Given the description of an element on the screen output the (x, y) to click on. 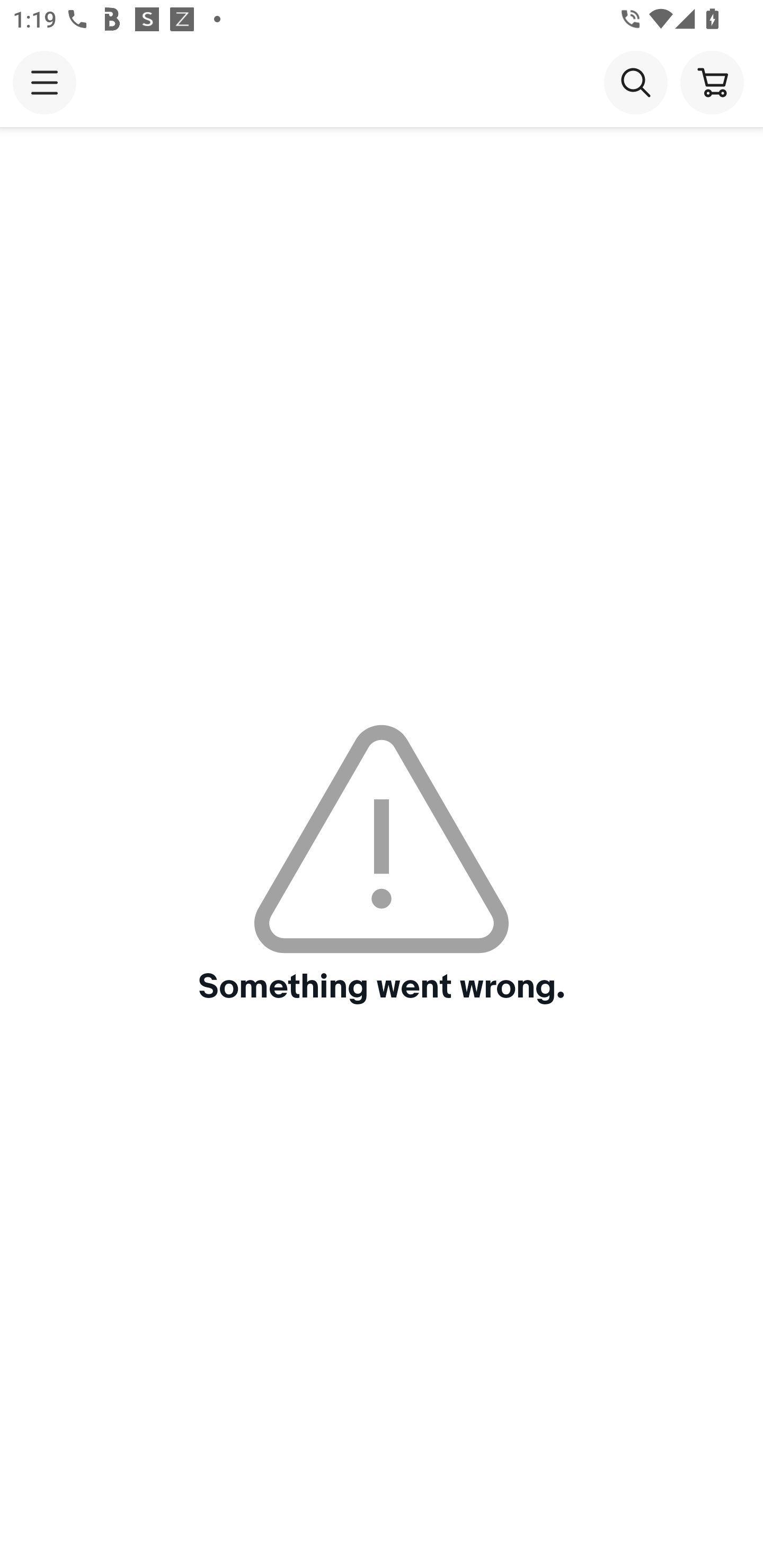
Main navigation, open (44, 82)
Search (635, 81)
Cart button shopping cart (711, 81)
